Given the description of an element on the screen output the (x, y) to click on. 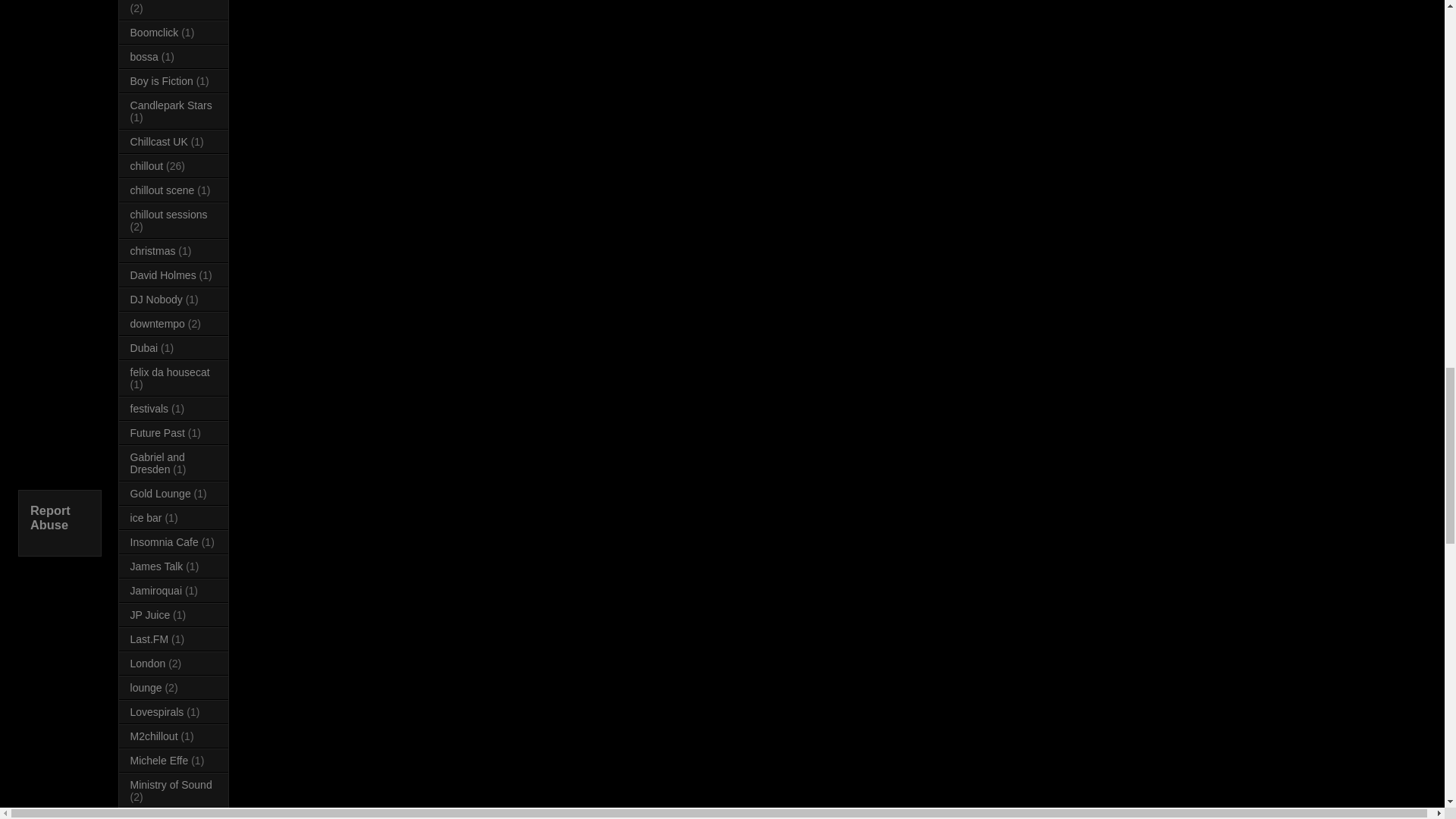
Report Abuse (49, 517)
